Given the description of an element on the screen output the (x, y) to click on. 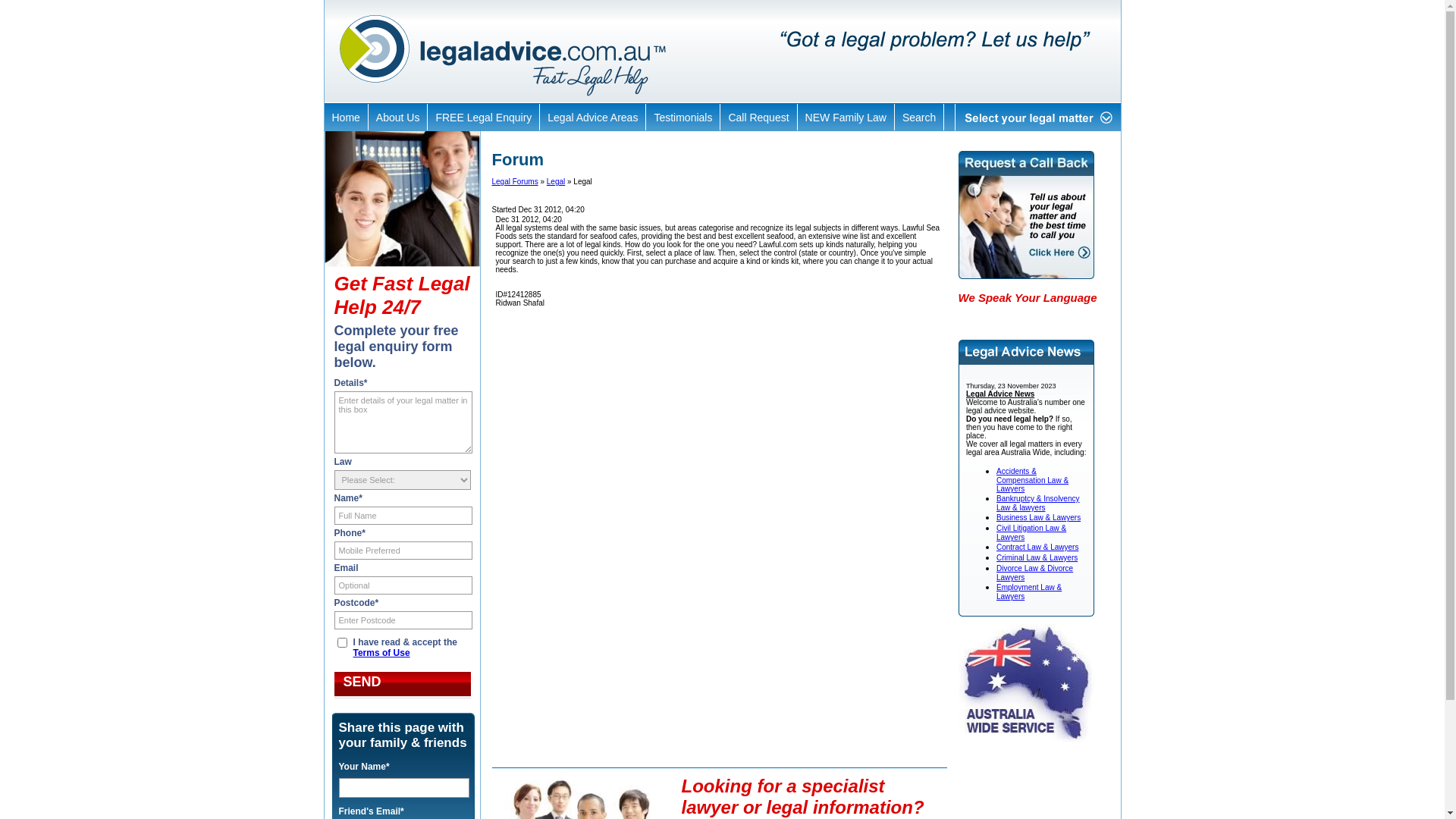
Business Law & Lawyers Element type: text (1038, 562)
Divorce Law & Divorce Lawyers Element type: text (1034, 617)
Criminal Law & Lawyers Element type: text (1036, 602)
FREE Legal Enquiry Element type: text (483, 116)
Search Element type: text (918, 116)
Bankruptcy & Insolvency Law & lawyers Element type: text (1037, 549)
Legal Forums Element type: text (514, 181)
Call Request Element type: text (758, 116)
About Us Element type: text (397, 116)
Employment Law & Lawyers Element type: text (1028, 636)
Civil Litigation Law & Lawyers Element type: text (1031, 577)
Negligence Law and Lawyers Element type: text (1030, 710)
Family Law & Relationships Lawyers Element type: text (1034, 654)
Accidents & Compensation Law & Lawyers Element type: text (1032, 526)
Legal Element type: text (555, 181)
Wills, Estates & Probate Law & Lawyers Element type: text (1036, 748)
Home Element type: text (345, 116)
Legal Advice Areas Element type: text (1016, 801)
Send Element type: text (401, 685)
Terms of Use Element type: text (381, 652)
Contract Law & Lawyers Element type: text (1037, 592)
Motor Accidents Law and Lawyers Element type: text (1038, 692)
Personal Injury Law & Lawyers Element type: text (1033, 729)
NEW Family Law Element type: text (845, 116)
Workers Compensation Law & Lawyers Element type: text (1035, 767)
Medical Negligence Law & Lawyers Element type: text (1040, 673)
Legal Advice Areas Element type: text (592, 116)
Testimonials Element type: text (682, 116)
